Given the description of an element on the screen output the (x, y) to click on. 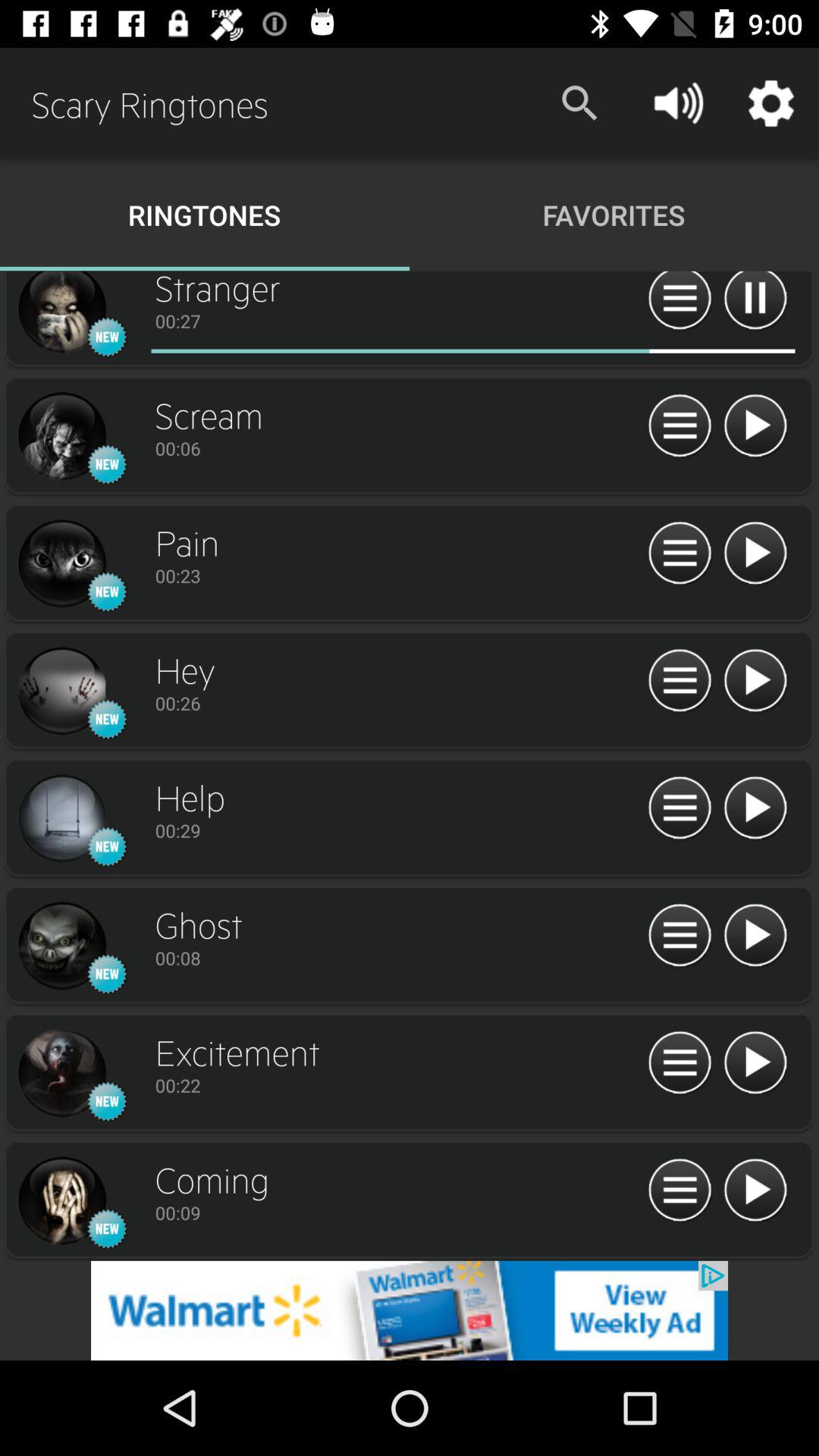
redirect to advertisement (409, 1310)
